Given the description of an element on the screen output the (x, y) to click on. 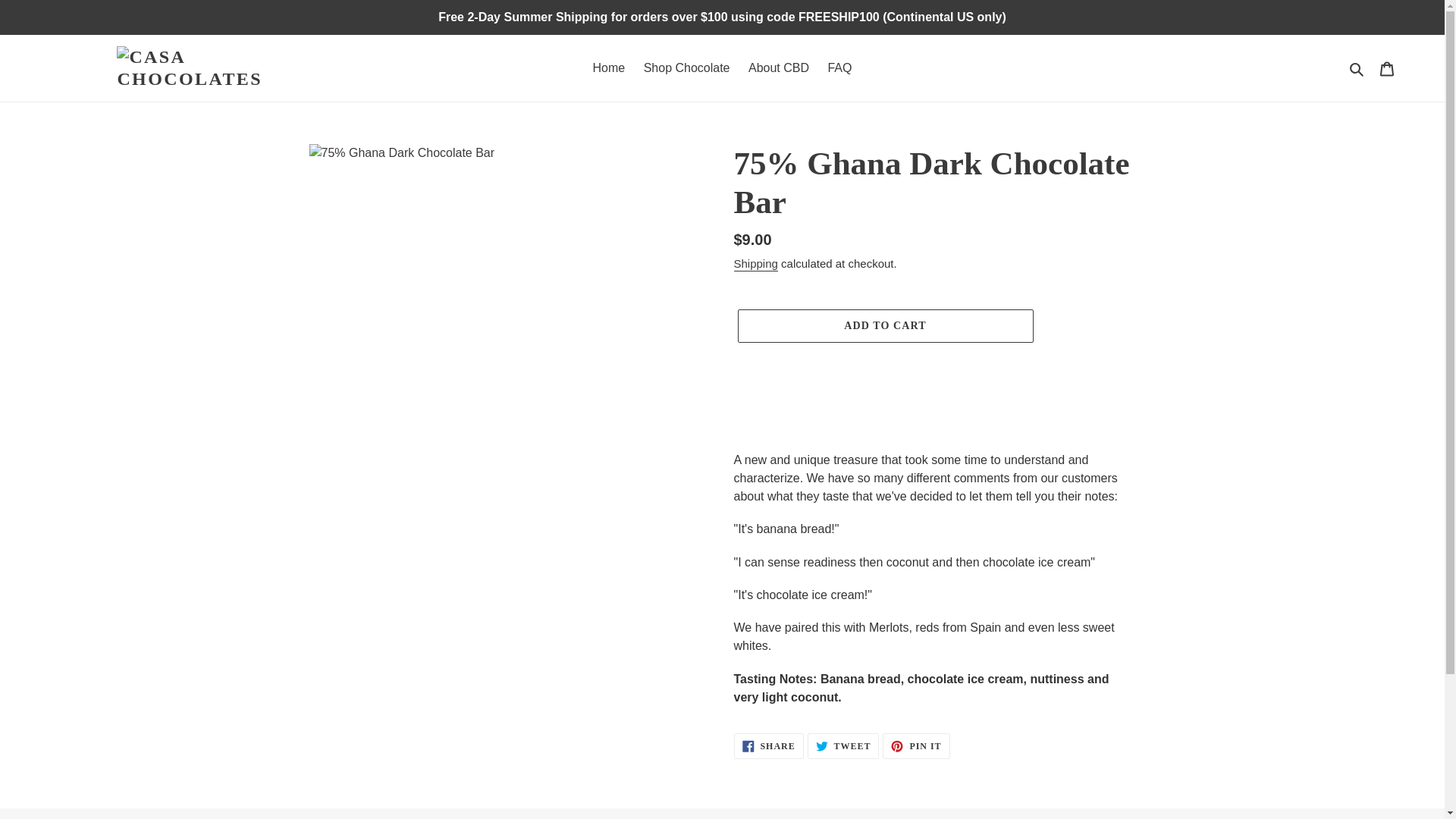
Cart (1387, 68)
ADD TO CART (884, 326)
Shipping (755, 264)
Shop Chocolate (768, 746)
About CBD (687, 67)
Search (778, 67)
FAQ (915, 746)
